Given the description of an element on the screen output the (x, y) to click on. 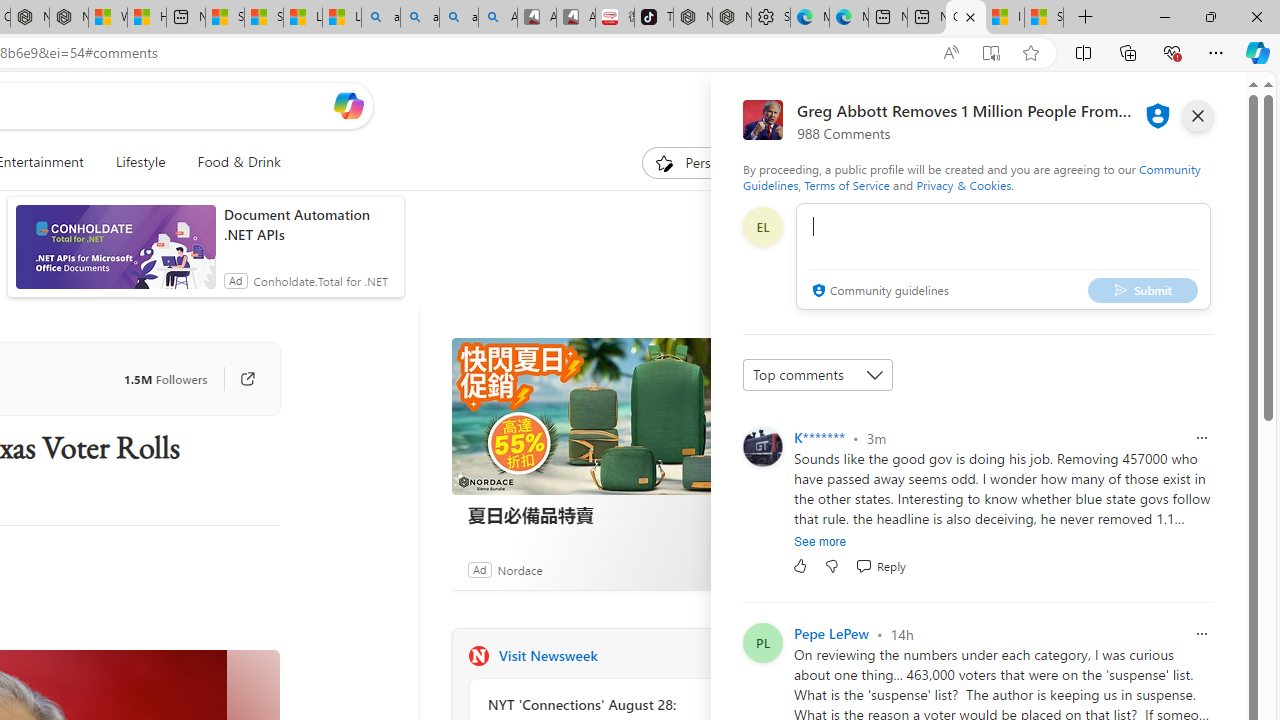
comment-box (1003, 256)
TikTok (653, 17)
Go to publisher's site (237, 378)
Like (799, 565)
Community Guidelines (971, 176)
amazon - Search Images (458, 17)
Nordace Siena Pro 15 Backpack (732, 17)
Community guidelines (878, 291)
